Given the description of an element on the screen output the (x, y) to click on. 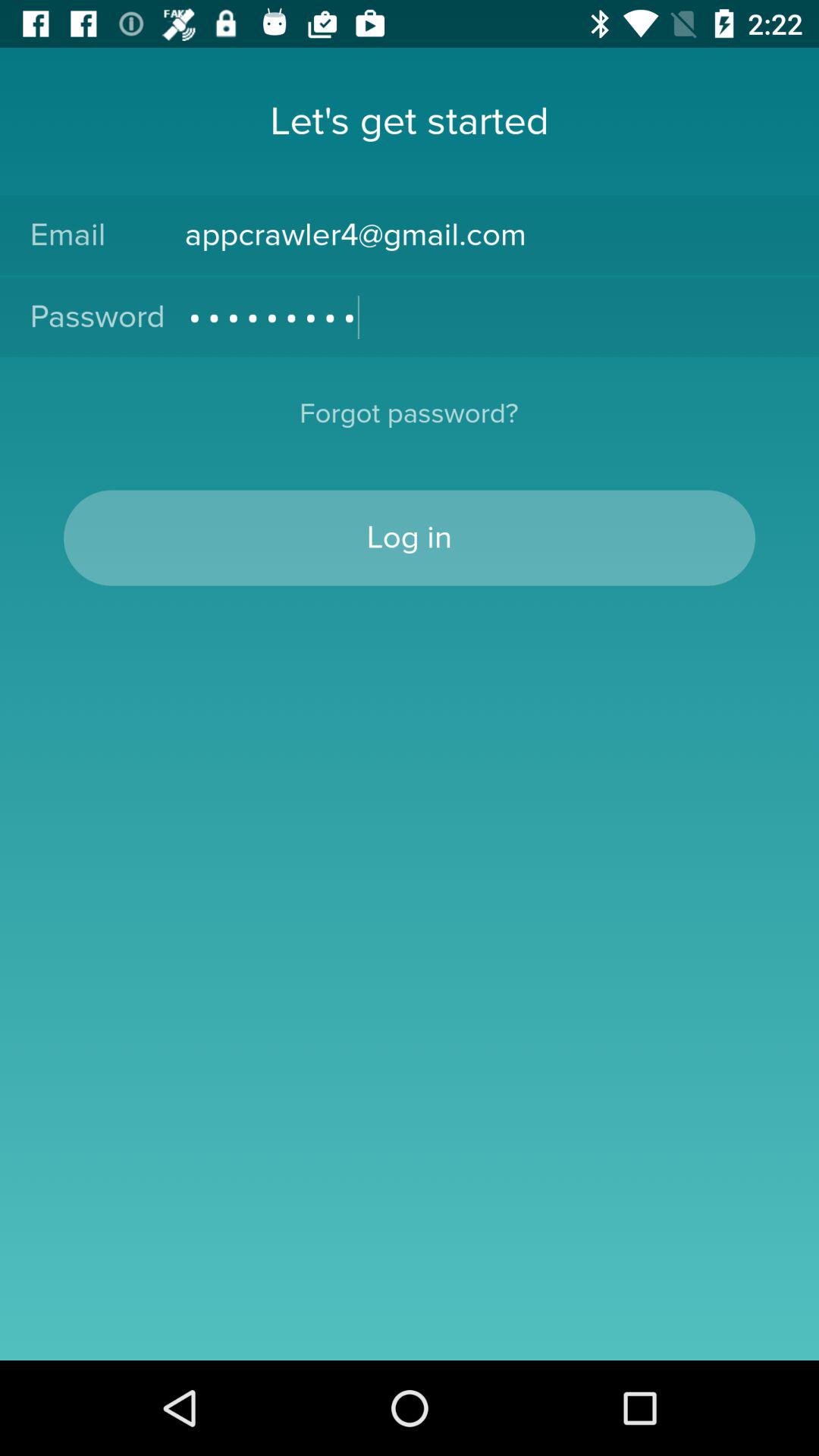
turn off the crowd3116 item (486, 316)
